Given the description of an element on the screen output the (x, y) to click on. 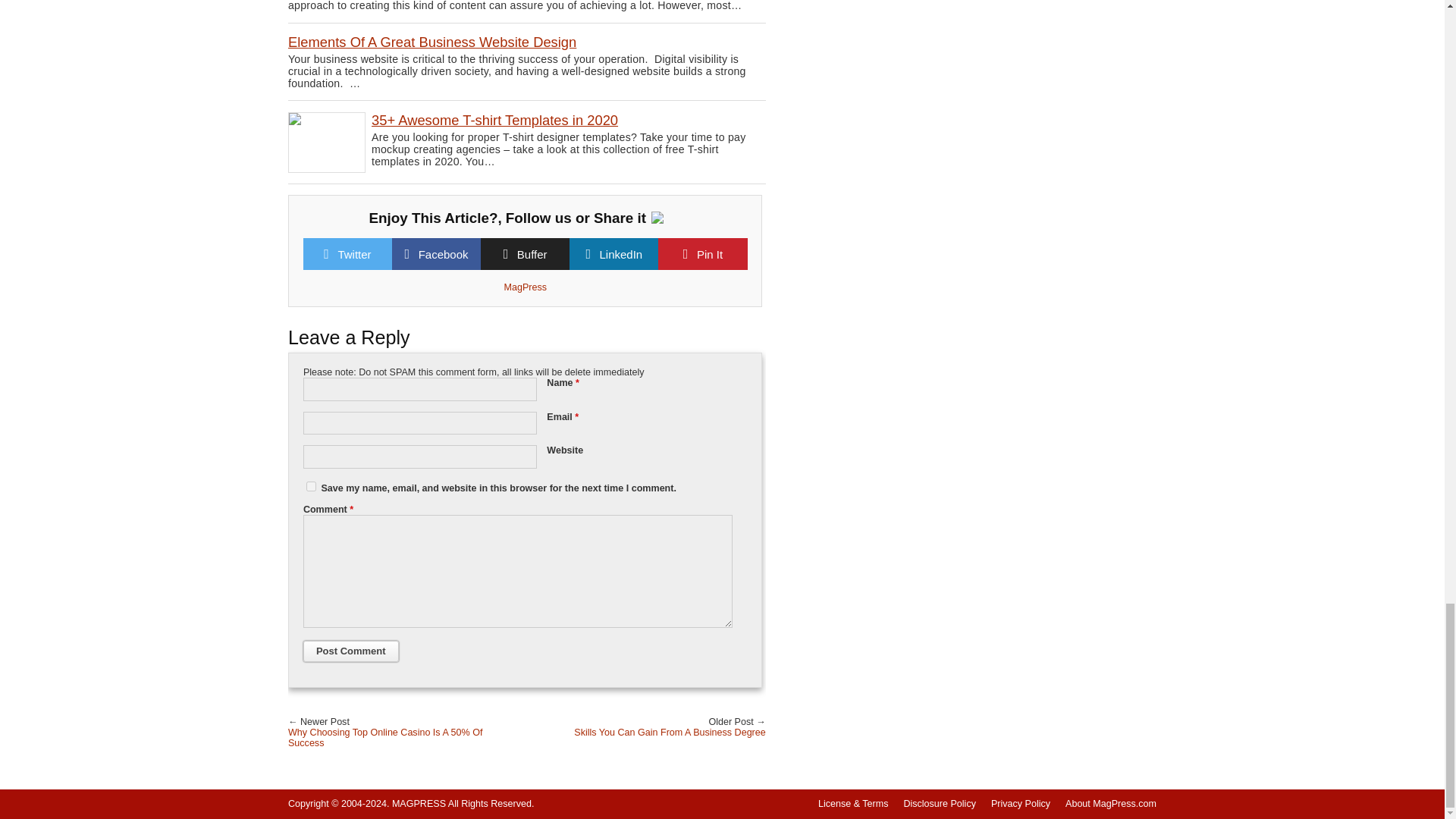
Post Comment (350, 650)
Buffer (531, 254)
Twitter (354, 254)
Facebook (443, 254)
Pin It (709, 254)
LinkedIn (620, 254)
yes (310, 486)
Elements Of A Great Business Website Design (432, 41)
MagPress (524, 286)
